Given the description of an element on the screen output the (x, y) to click on. 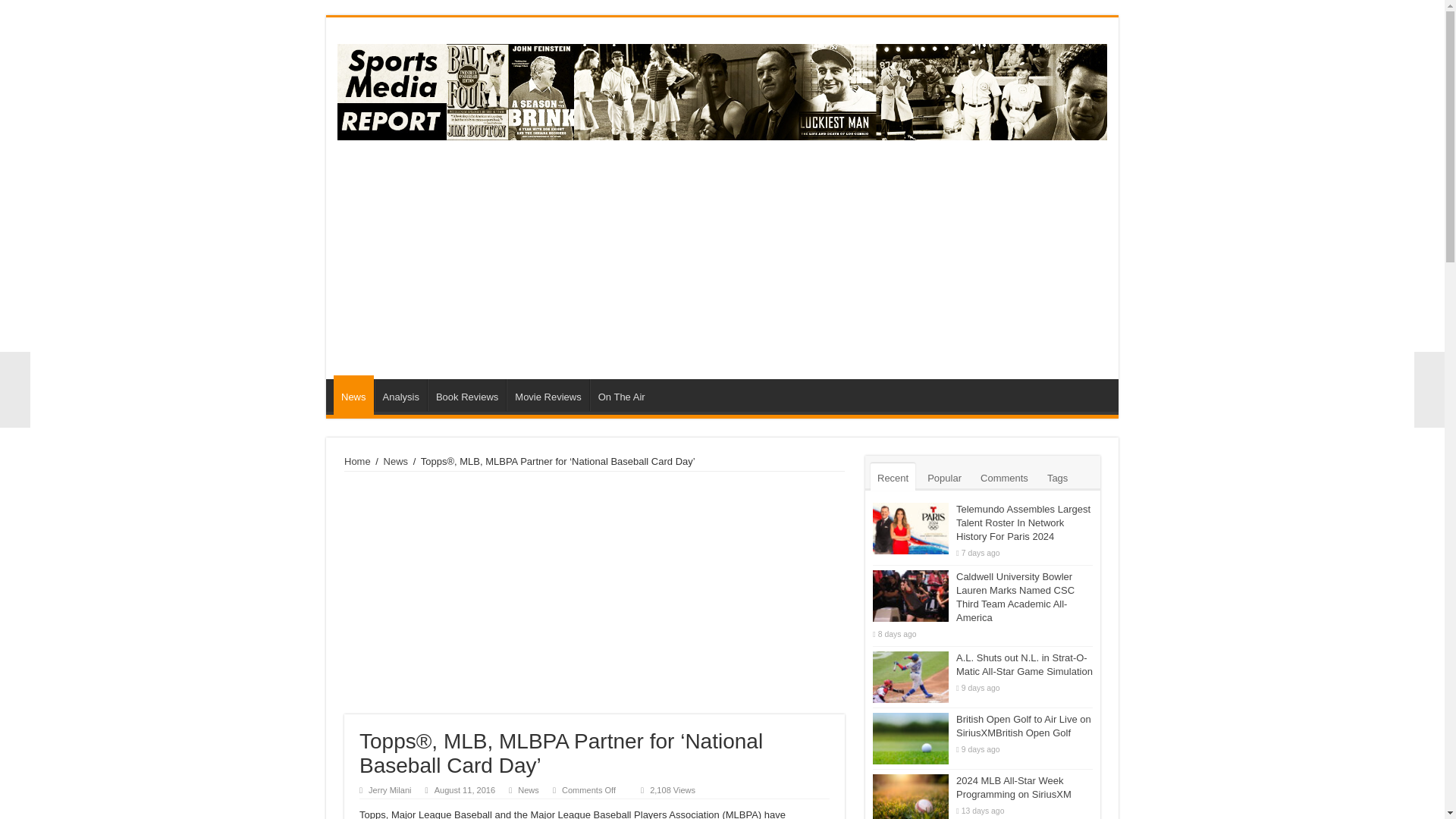
Analysis (400, 395)
News (528, 789)
Book Reviews (466, 395)
Jerry Milani (389, 789)
Advertisement (593, 592)
On The Air (620, 395)
Sports Media Report (721, 89)
News (353, 394)
Movie Reviews (547, 395)
News (396, 460)
Home (357, 460)
Advertisement (830, 257)
